Given the description of an element on the screen output the (x, y) to click on. 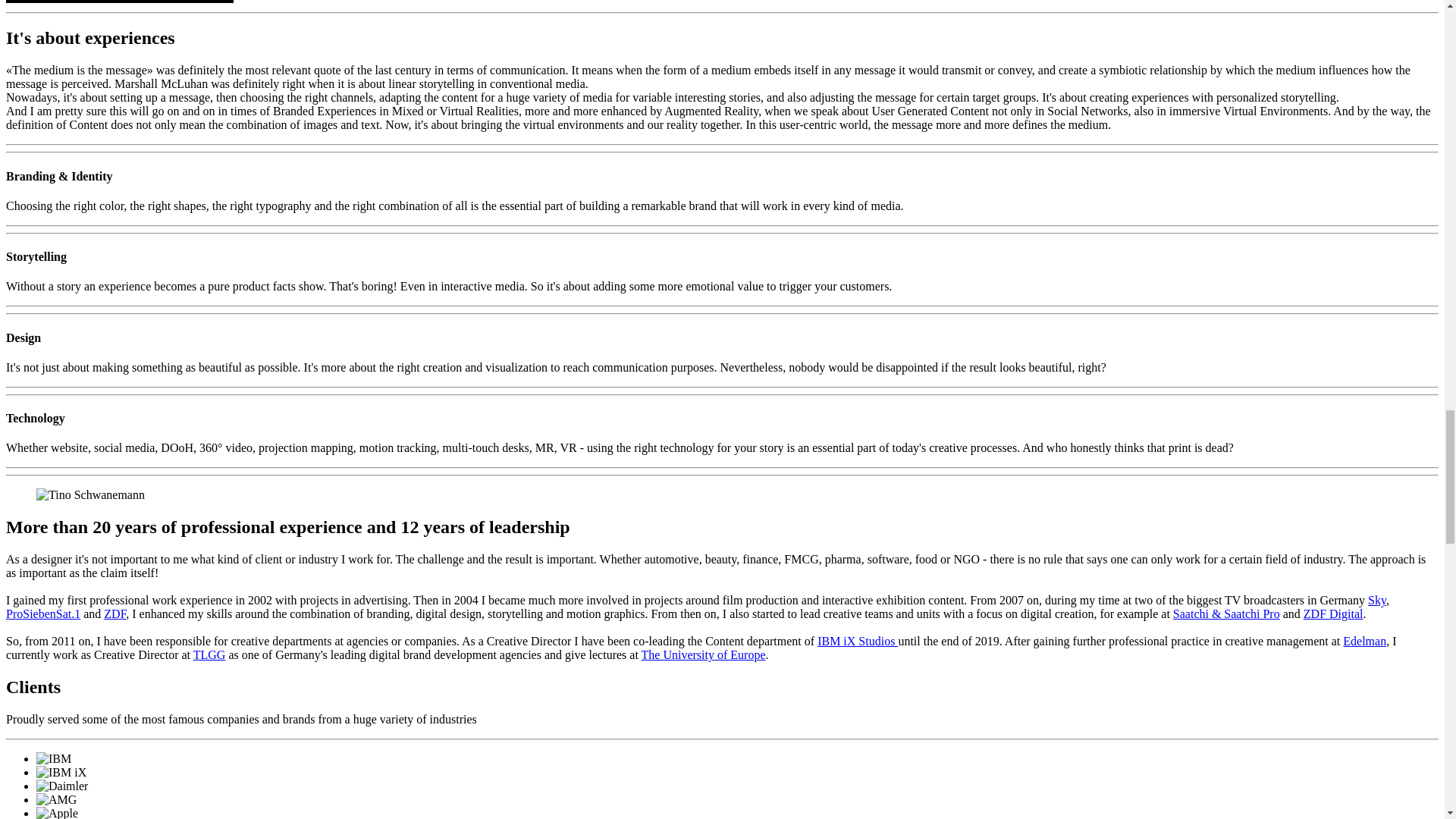
TLGG (209, 654)
ProSiebenSat.1 (42, 613)
Edelman (1364, 640)
IBM iX Studios (857, 640)
ZDF Digital (1332, 613)
ZDF (114, 613)
The University of Europe (703, 654)
Sky (1377, 599)
